Given the description of an element on the screen output the (x, y) to click on. 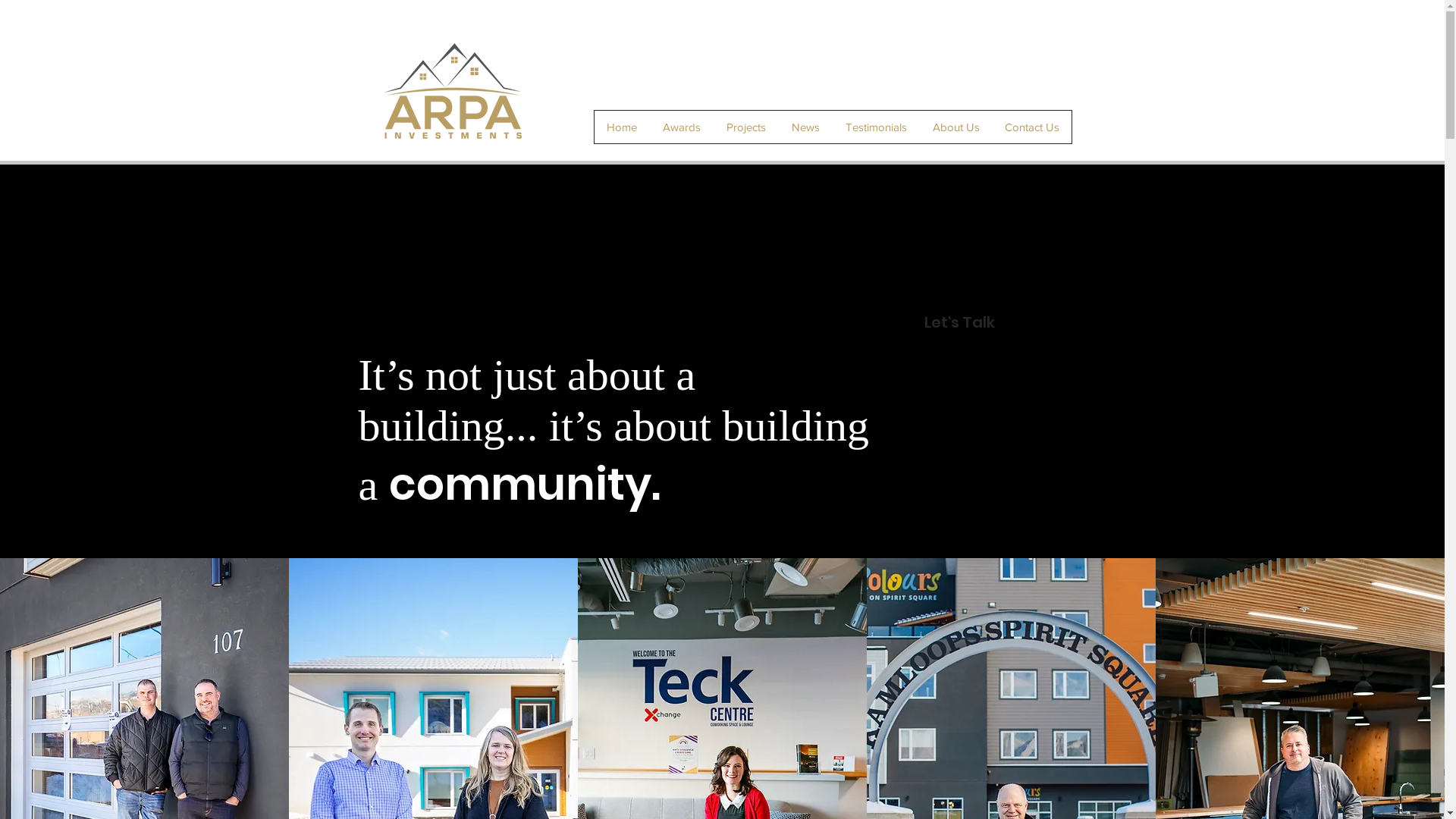
Home Element type: text (621, 126)
Let's Talk Element type: text (958, 321)
About Us Element type: text (955, 126)
Projects Element type: text (745, 126)
Testimonials Element type: text (875, 126)
News Element type: text (804, 126)
Contact Us Element type: text (1031, 126)
Awards Element type: text (680, 126)
